Given the description of an element on the screen output the (x, y) to click on. 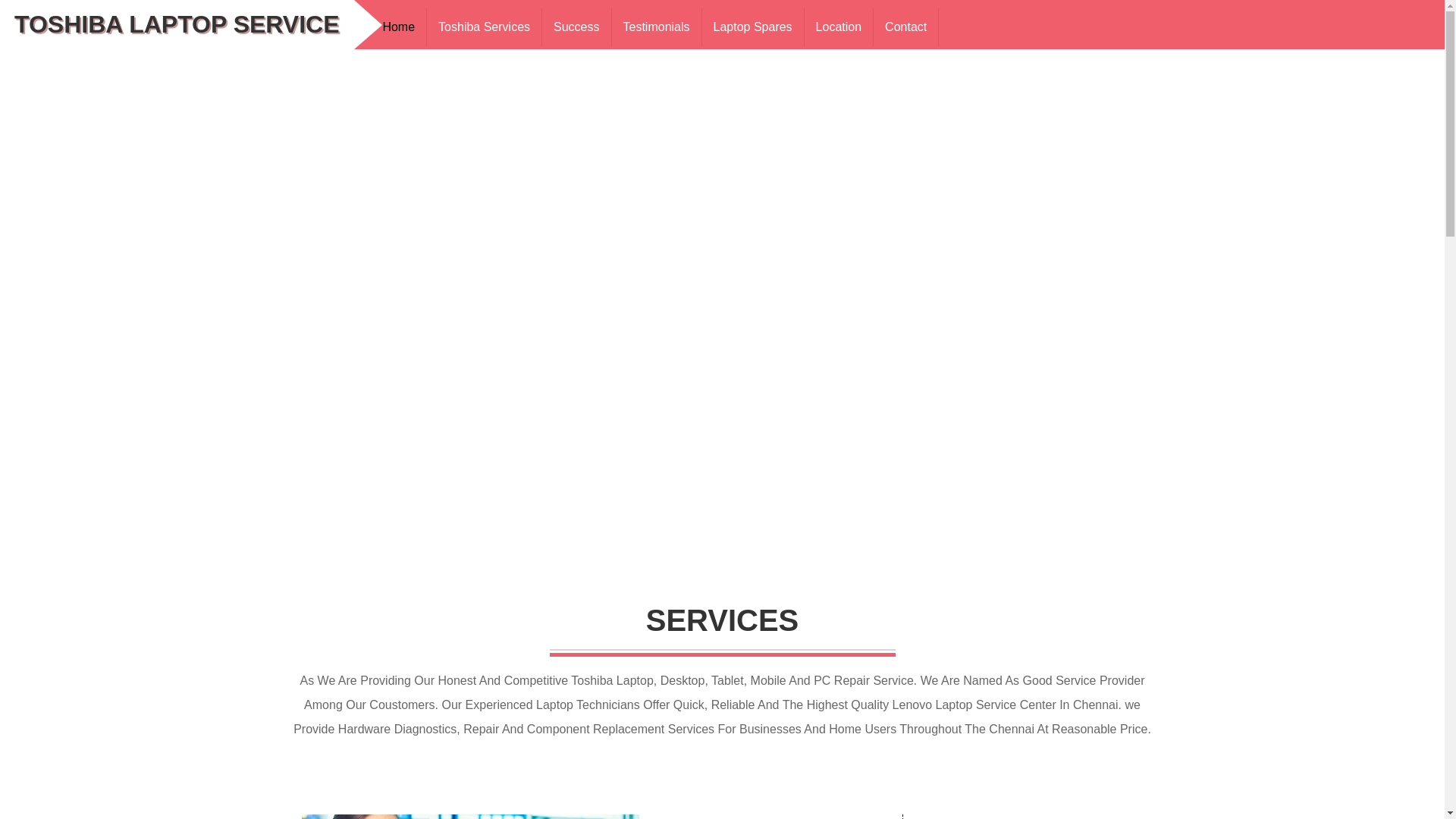
Success (576, 26)
Laptop Spares (753, 26)
Home (398, 26)
Contact (906, 26)
Testimonials (656, 26)
Location (840, 26)
Authorized Toshiba laptop service center in ambattur (470, 816)
TOSHIBA LAPTOP SERVICE (176, 24)
Contact (906, 26)
Laptop Spares (753, 26)
Location (840, 26)
Success (576, 26)
Toshiba Services (483, 26)
Toshiba Services (483, 26)
Testimonials (656, 26)
